Given the description of an element on the screen output the (x, y) to click on. 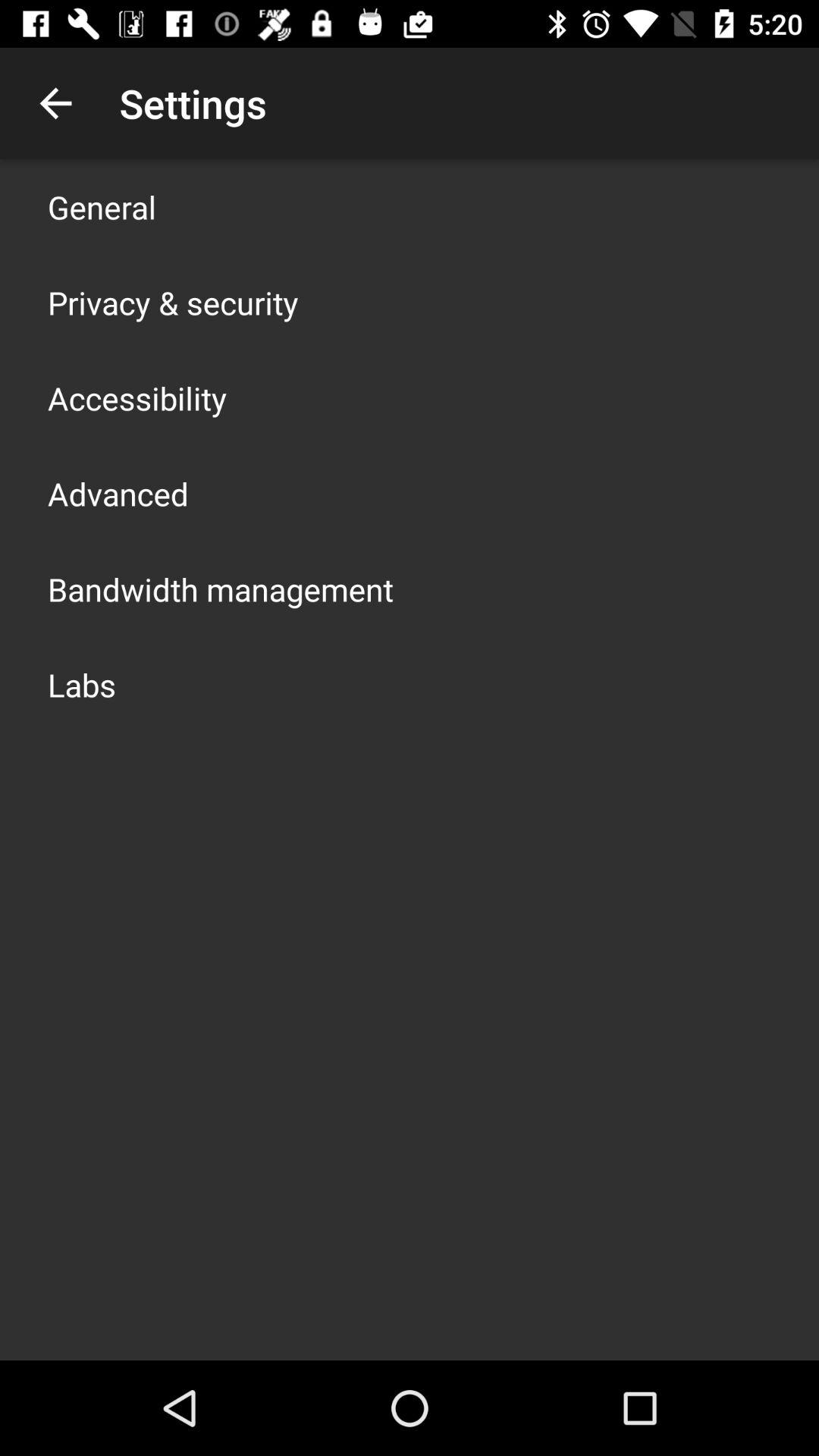
tap bandwidth management app (220, 588)
